Given the description of an element on the screen output the (x, y) to click on. 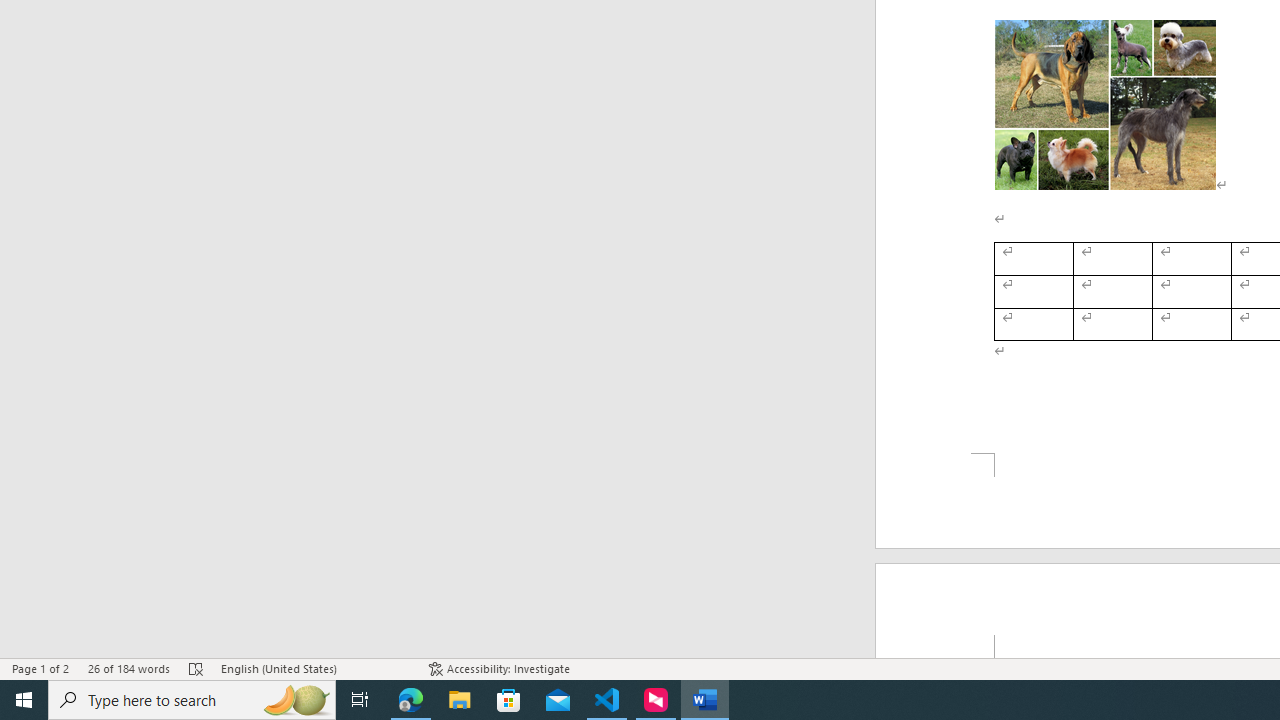
Morphological variation in six dogs (1105, 105)
Accessibility Checker Accessibility: Investigate (499, 668)
Spelling and Grammar Check Errors (196, 668)
Page Number Page 1 of 2 (39, 668)
Language English (United States) (315, 668)
